Given the description of an element on the screen output the (x, y) to click on. 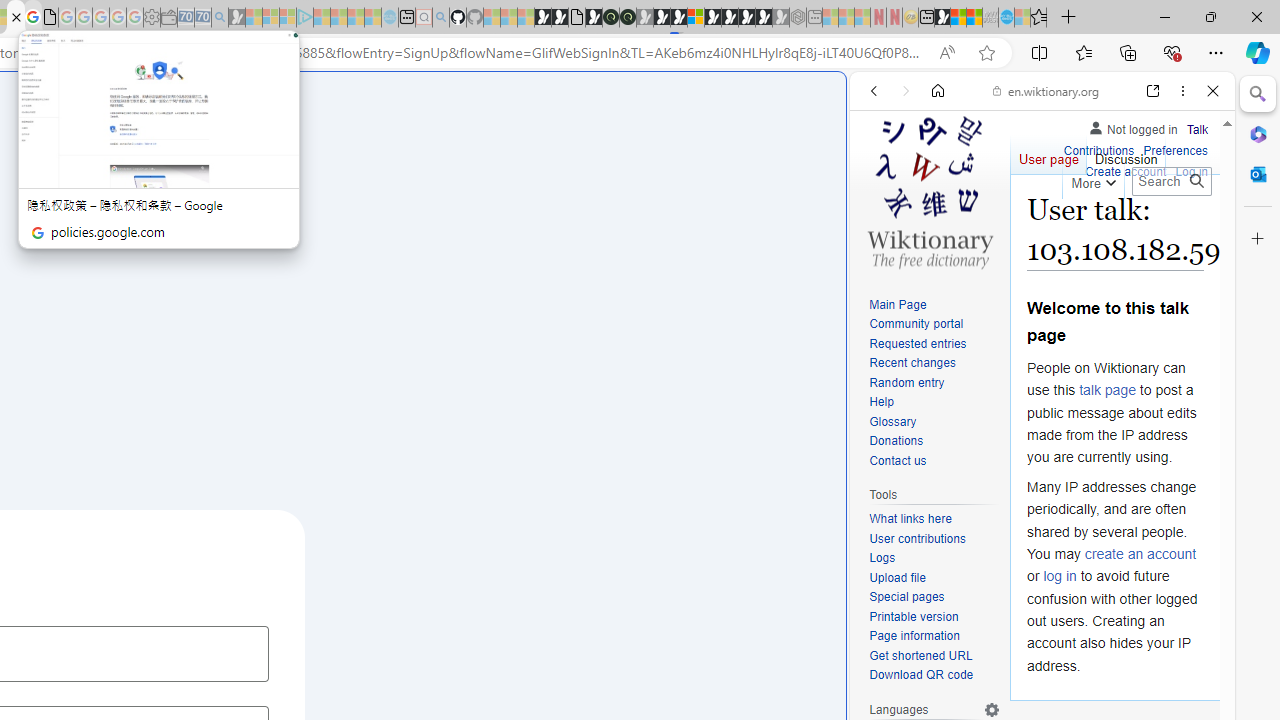
Play Zoo Boom in your browser | Games from Microsoft Start (559, 17)
Log in (1191, 169)
User contributions (934, 539)
Frequently visited (418, 265)
Create account (1125, 169)
User contributions (917, 538)
Search Wiktionary (1171, 181)
User page (1048, 154)
Log in (1191, 172)
